Given the description of an element on the screen output the (x, y) to click on. 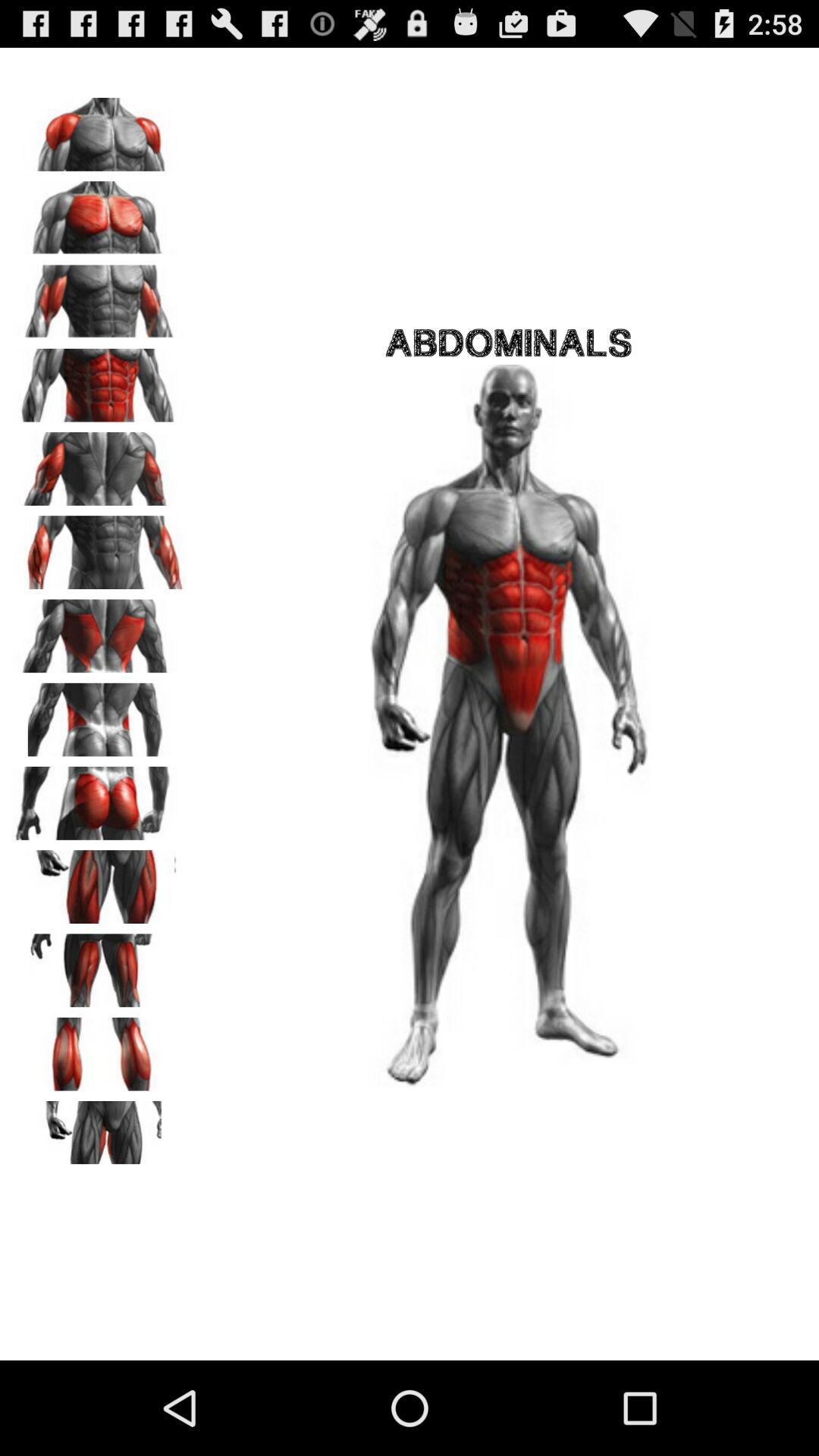
open chest workouts (99, 212)
